Given the description of an element on the screen output the (x, y) to click on. 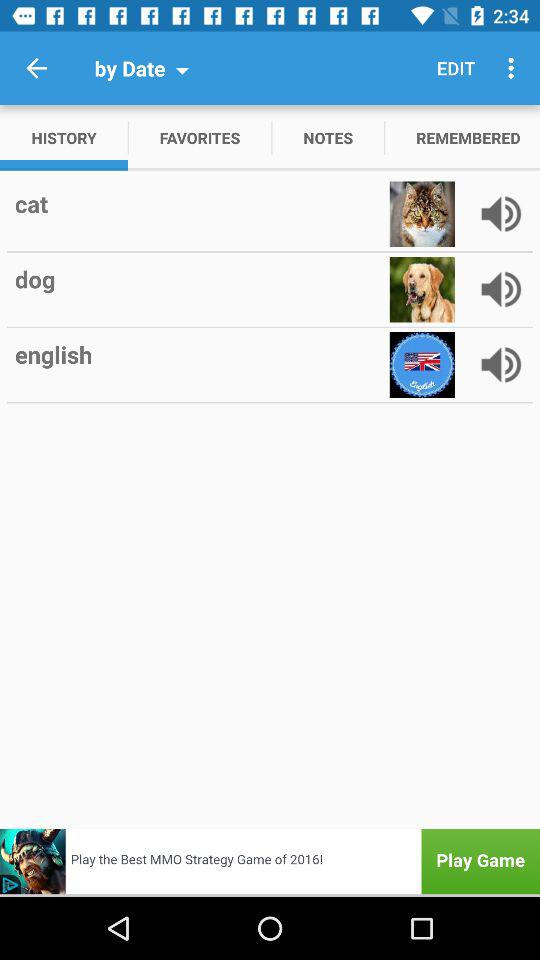
click the app to the right of history icon (199, 137)
